Given the description of an element on the screen output the (x, y) to click on. 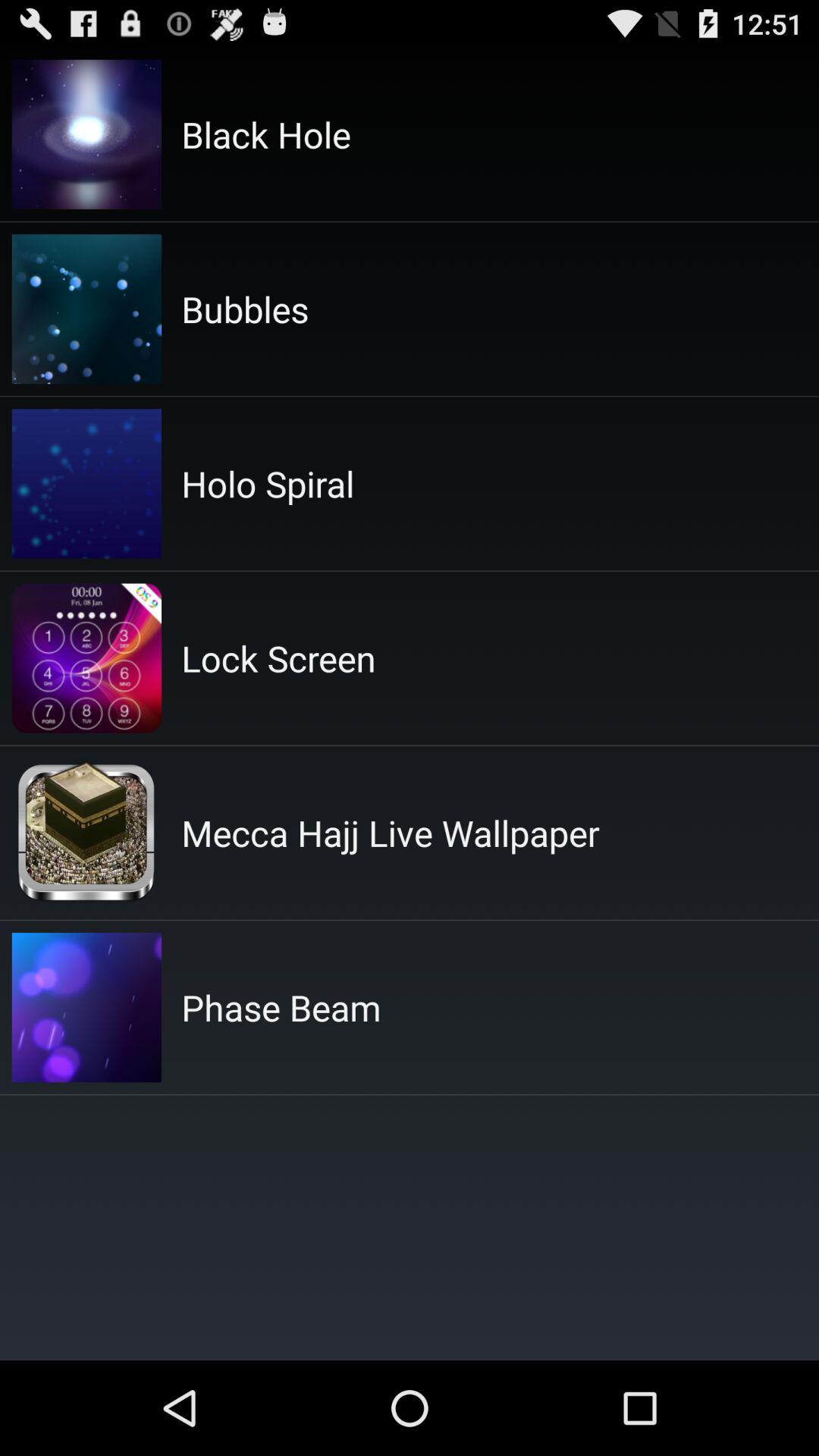
click the icon below black hole (244, 308)
